Given the description of an element on the screen output the (x, y) to click on. 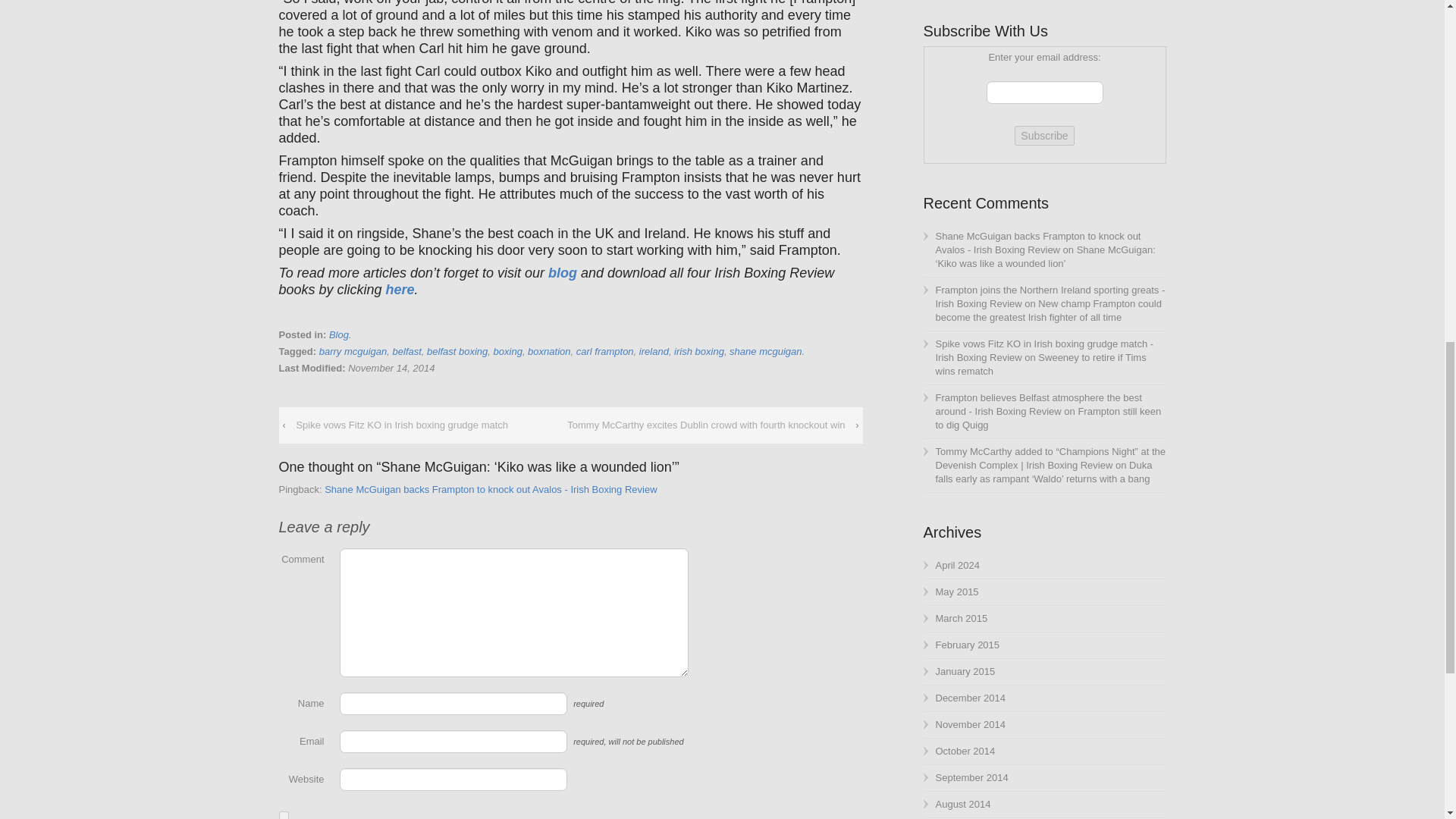
Sweeney to retire if Tims wins rematch (1041, 364)
Subscribe (1044, 135)
here (399, 289)
belfast boxing (456, 351)
yes (283, 815)
blog (564, 272)
Subscribe (1044, 135)
Blog (339, 334)
Spike vows Fitz KO in Irish boxing grudge match (401, 425)
carl frampton (604, 351)
belfast (407, 351)
irish boxing (698, 351)
boxnation (548, 351)
